Given the description of an element on the screen output the (x, y) to click on. 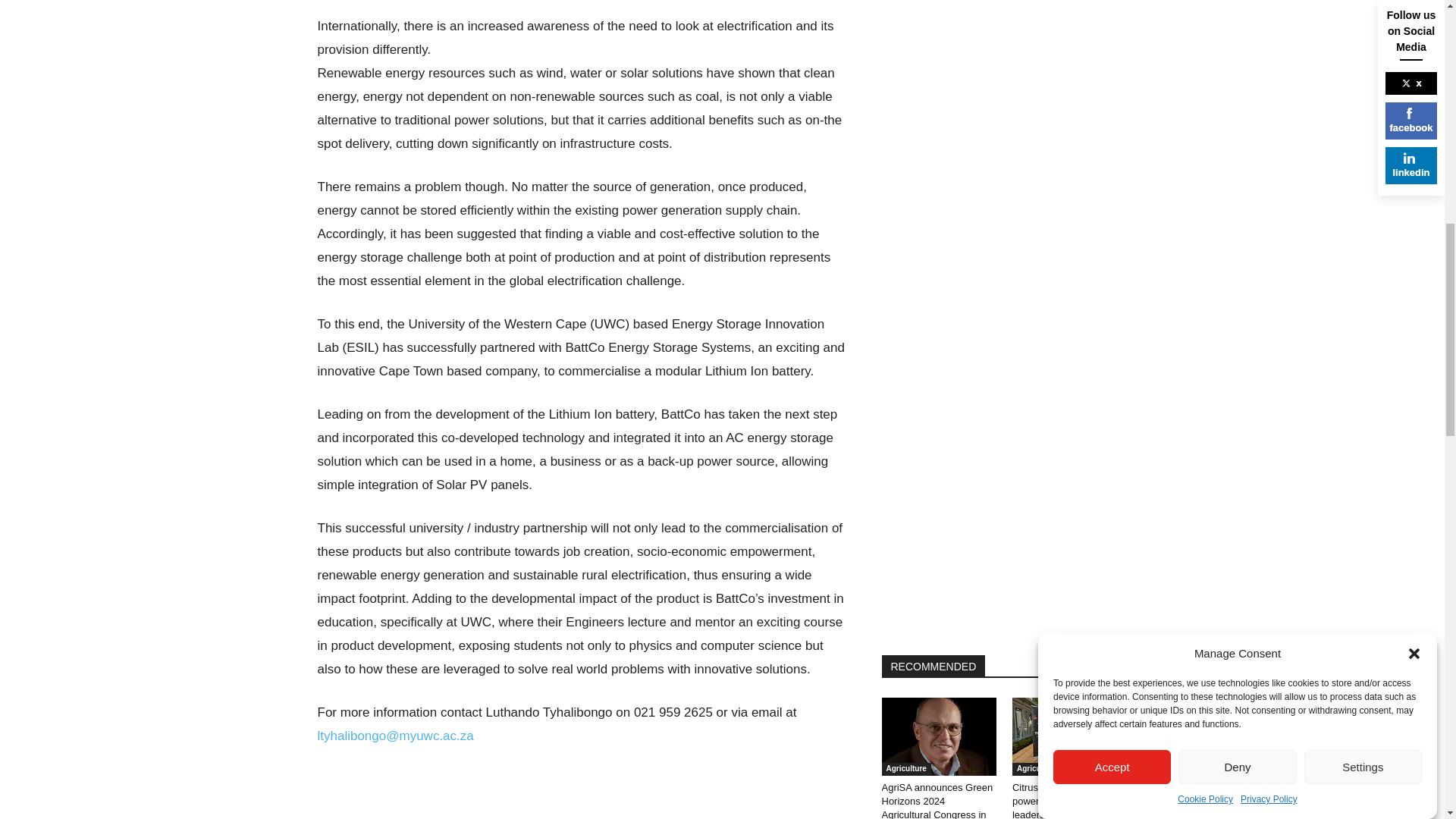
Accept (1111, 147)
Settings (1363, 98)
Cookie Policy (1205, 75)
Privacy Policy (1268, 61)
Deny (1236, 121)
